Given the description of an element on the screen output the (x, y) to click on. 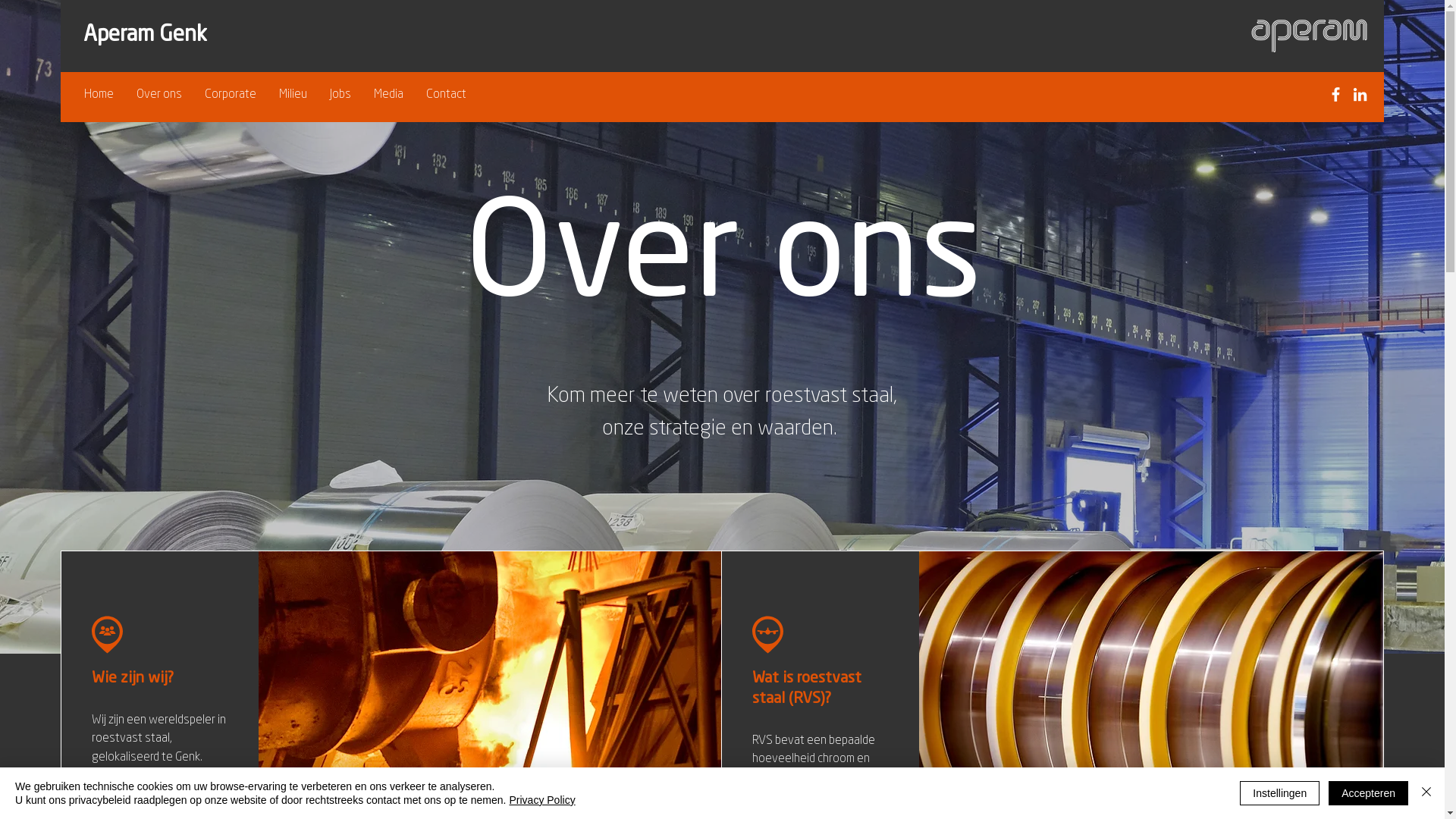
Media Element type: text (388, 94)
Jobs Element type: text (340, 94)
Over ons Element type: text (159, 94)
Aperam Genk Element type: text (145, 35)
APM_Logo_WT_klein.png Element type: hover (1308, 34)
Milieu Element type: text (292, 94)
Corporate Element type: text (230, 94)
Instellingen Element type: text (1279, 793)
Accepteren Element type: text (1368, 793)
Privacy Policy Element type: text (542, 799)
Contact Element type: text (445, 94)
Home Element type: text (98, 94)
